Given the description of an element on the screen output the (x, y) to click on. 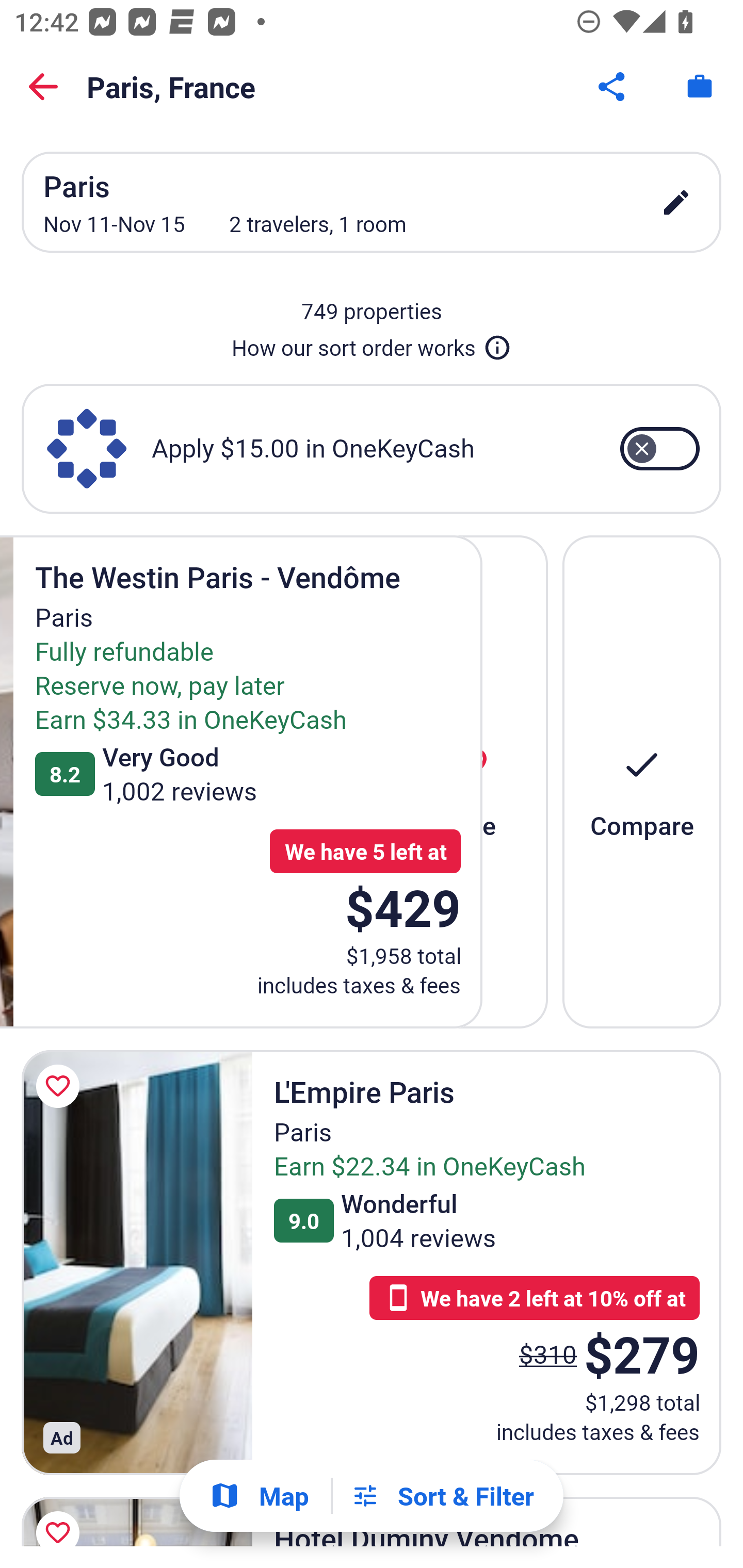
Back (43, 86)
Share Button (612, 86)
Trips. Button (699, 86)
Paris Nov 11-Nov 15 2 travelers, 1 room edit (371, 202)
How our sort order works (371, 344)
Save L'Empire Paris to a trip (61, 1085)
L'Empire Paris (136, 1262)
$310 The price was $310 (547, 1353)
Filters Sort & Filter Filters Button (442, 1495)
Show map Map Show map Button (258, 1495)
Save Hotel Duminy Vendome to a trip (61, 1517)
